Given the description of an element on the screen output the (x, y) to click on. 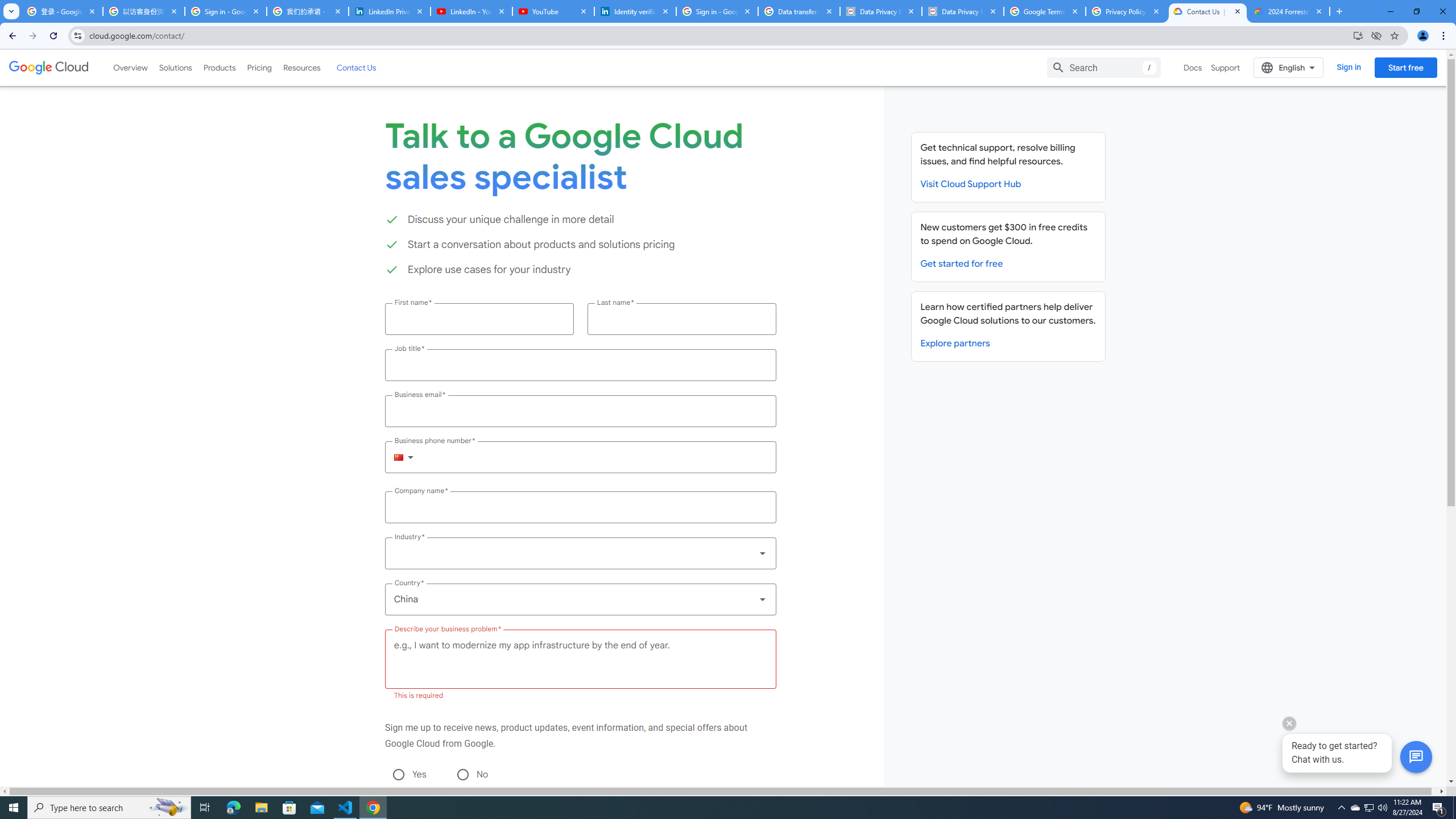
Data Privacy Framework (880, 11)
Google Cloud (48, 67)
English (1288, 67)
LinkedIn - YouTube (470, 11)
Sign in - Google Accounts (716, 11)
First name * (478, 318)
Products (218, 67)
